Given the description of an element on the screen output the (x, y) to click on. 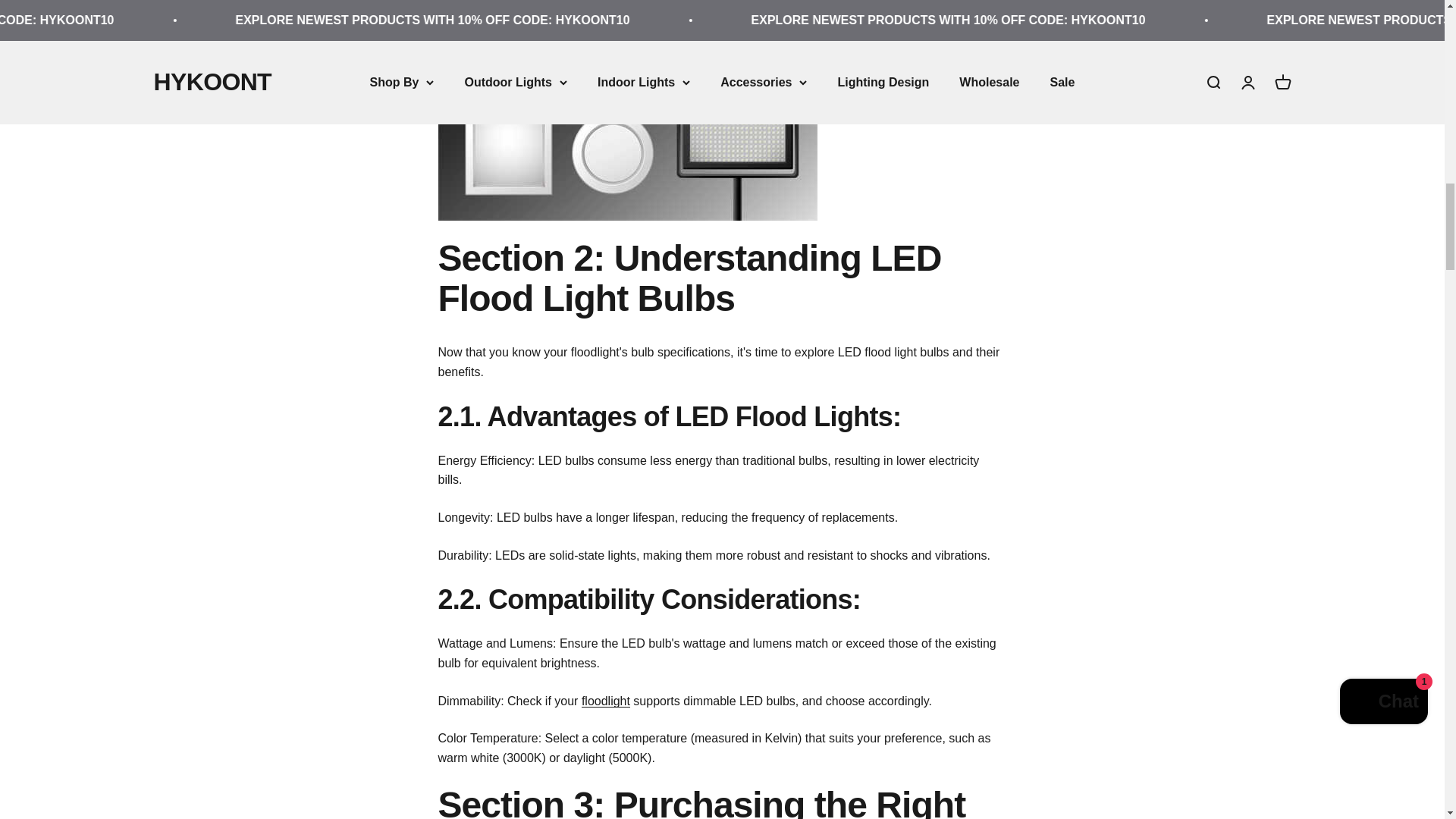
hykoont led flood light (605, 700)
